Given the description of an element on the screen output the (x, y) to click on. 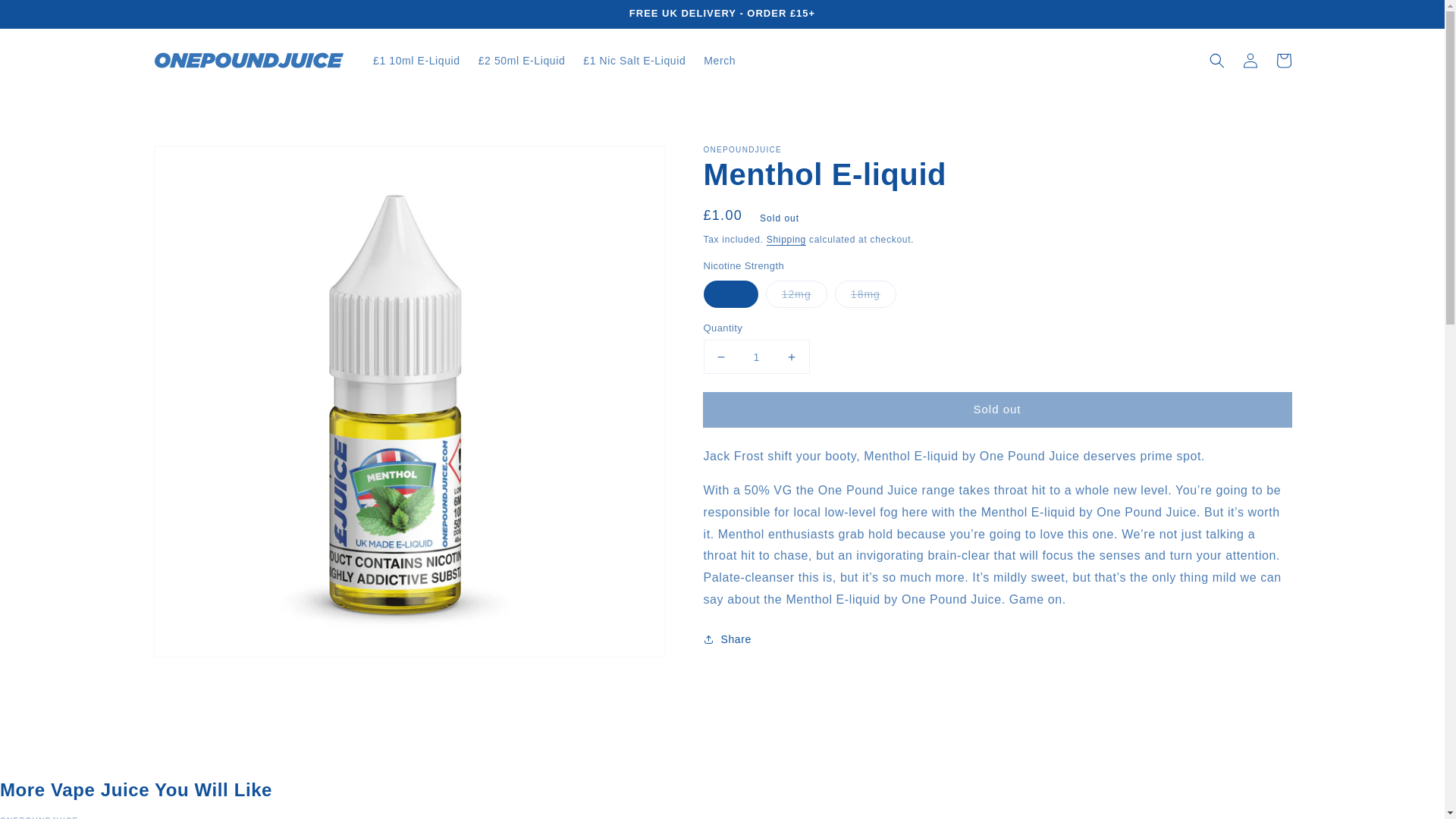
Skip to product information (198, 161)
Skip to content (45, 16)
Cart (1283, 60)
Increase quantity for Menthol E-liquid (791, 356)
1 (756, 356)
Merch (719, 60)
Sold out (997, 409)
Decrease quantity for Menthol E-liquid (720, 356)
Log in (1249, 60)
Shipping (786, 239)
